Given the description of an element on the screen output the (x, y) to click on. 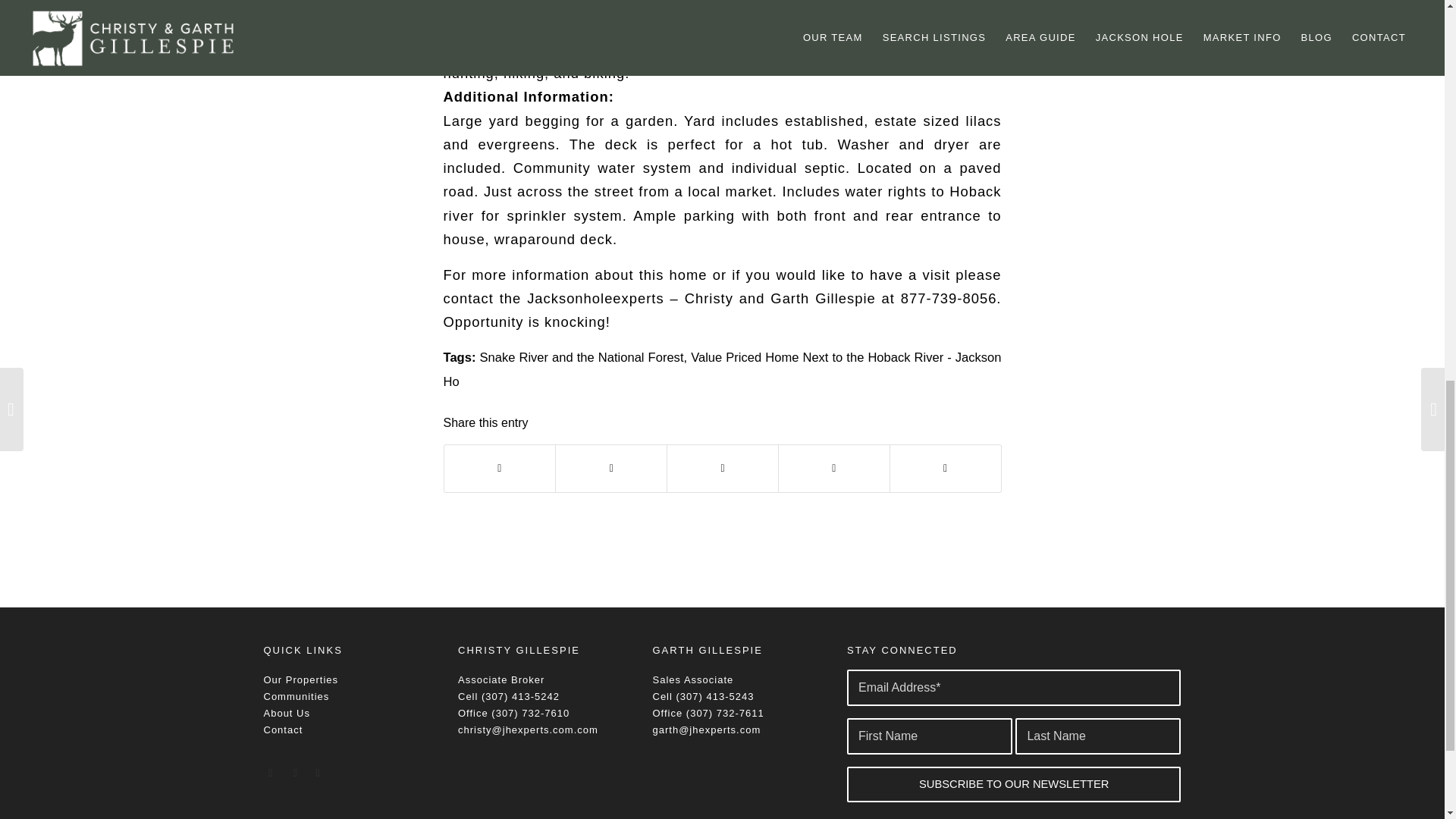
Snake River and the National Forest (580, 357)
Value Priced Home Next to the Hoback River - Jackson Ho (721, 369)
SUBSCRIBE TO OUR NEWSLETTER (1013, 784)
About Us (286, 713)
Communities (296, 696)
Jacksonholeexperts (595, 298)
Our Properties (301, 679)
